Given the description of an element on the screen output the (x, y) to click on. 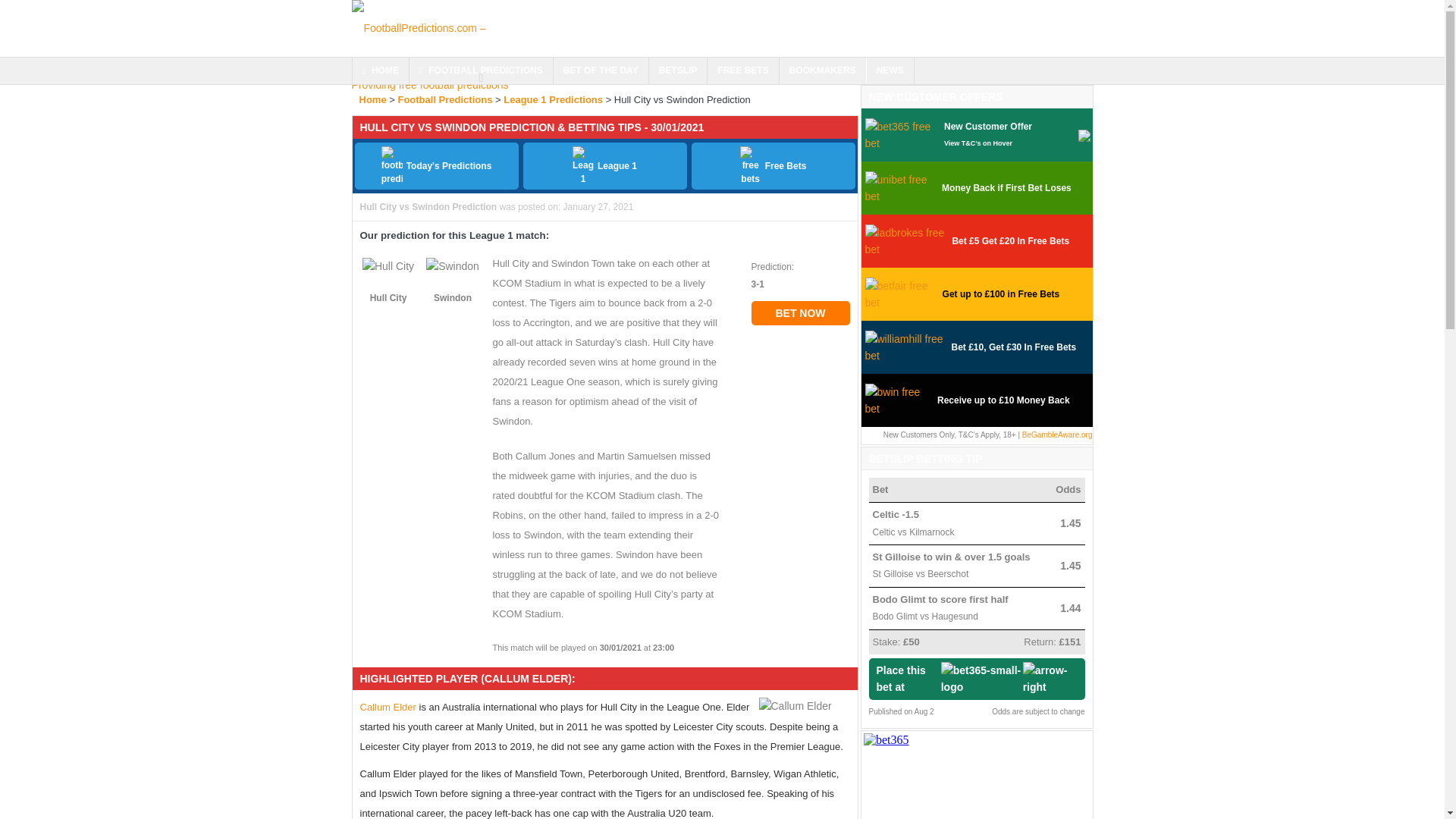
FOOTBALL PREDICTIONS (481, 70)
HOME (379, 70)
